Given the description of an element on the screen output the (x, y) to click on. 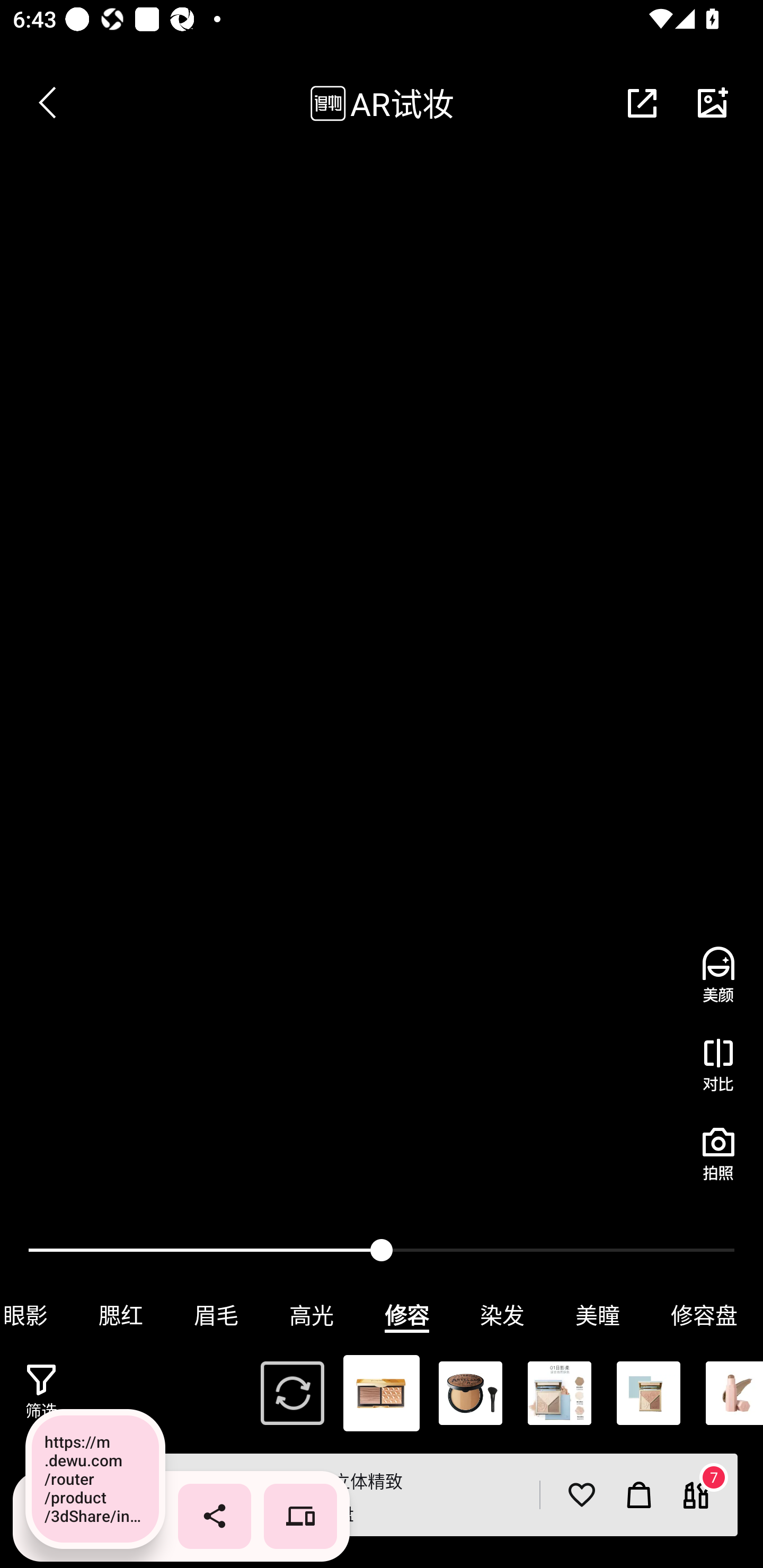
眼影 (36, 1315)
腮红 (120, 1315)
眉毛 (215, 1315)
高光 (311, 1315)
修容 (406, 1315)
染发 (502, 1315)
美瞳 (597, 1315)
修容盘 (704, 1315)
筛选 (41, 1392)
